Given the description of an element on the screen output the (x, y) to click on. 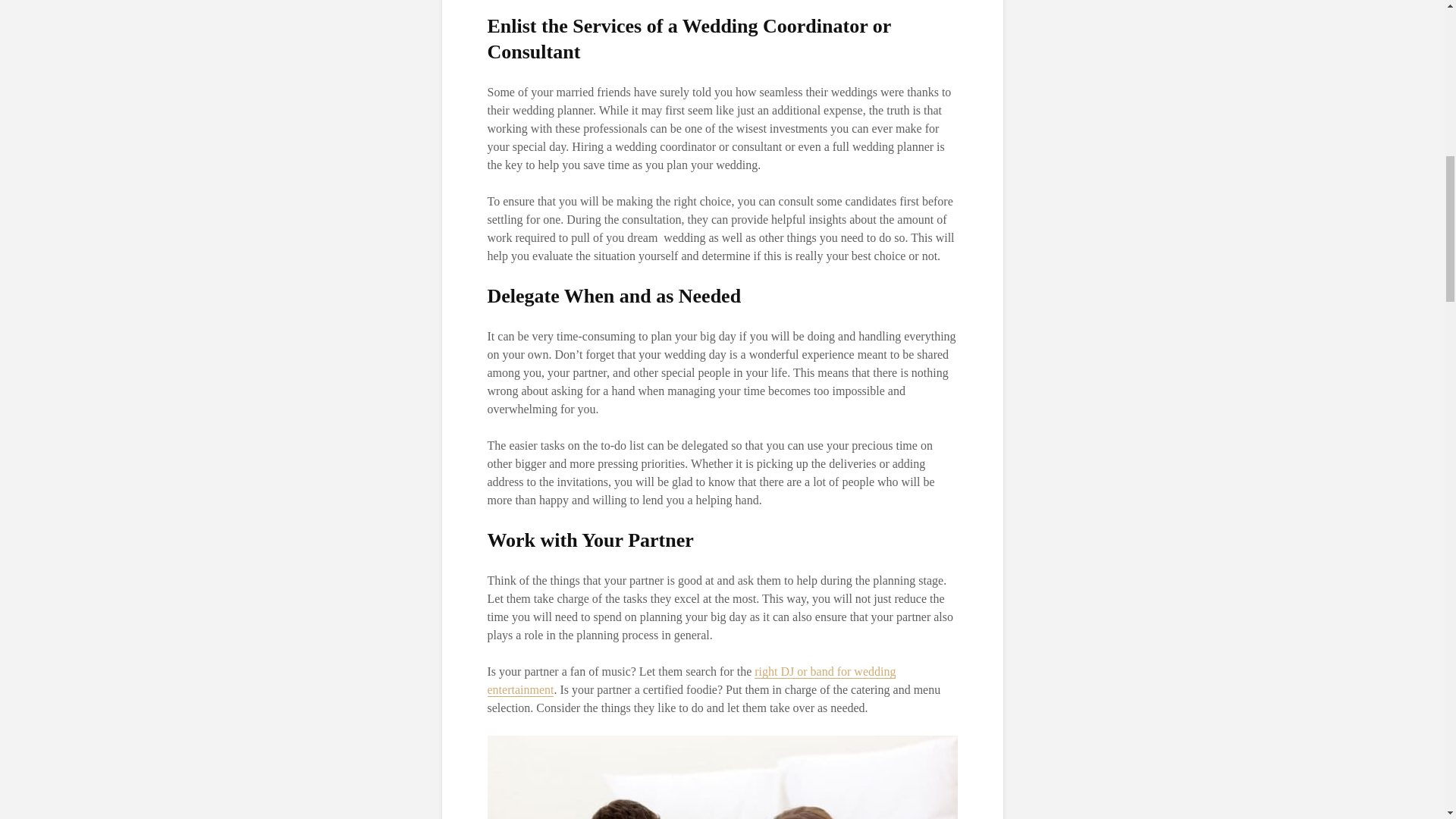
right DJ or band for wedding entertainment (690, 680)
